Given the description of an element on the screen output the (x, y) to click on. 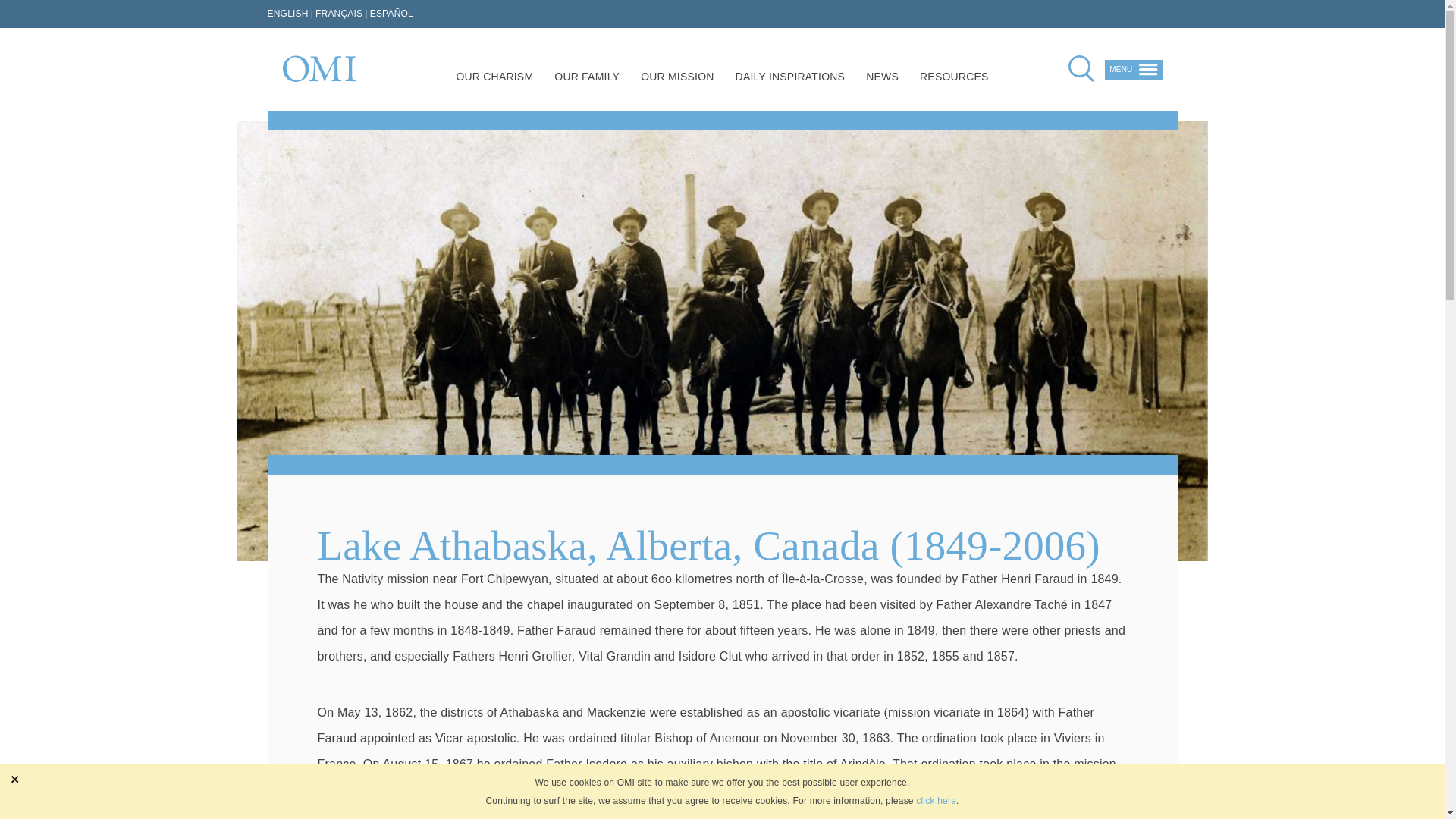
OUR CHARISM (494, 78)
OMI (318, 68)
click here (935, 800)
